Given the description of an element on the screen output the (x, y) to click on. 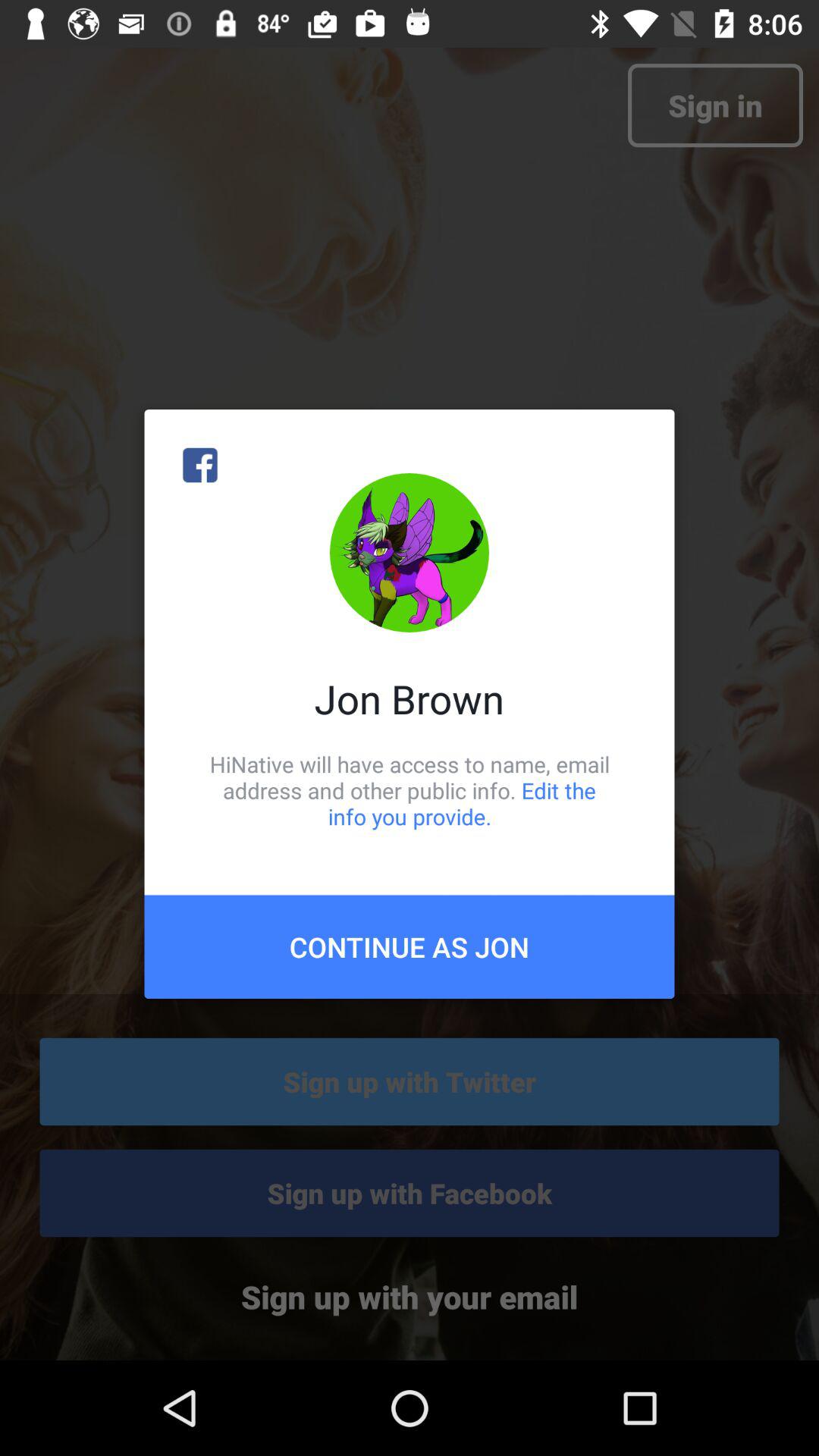
select the item above continue as jon (409, 790)
